Given the description of an element on the screen output the (x, y) to click on. 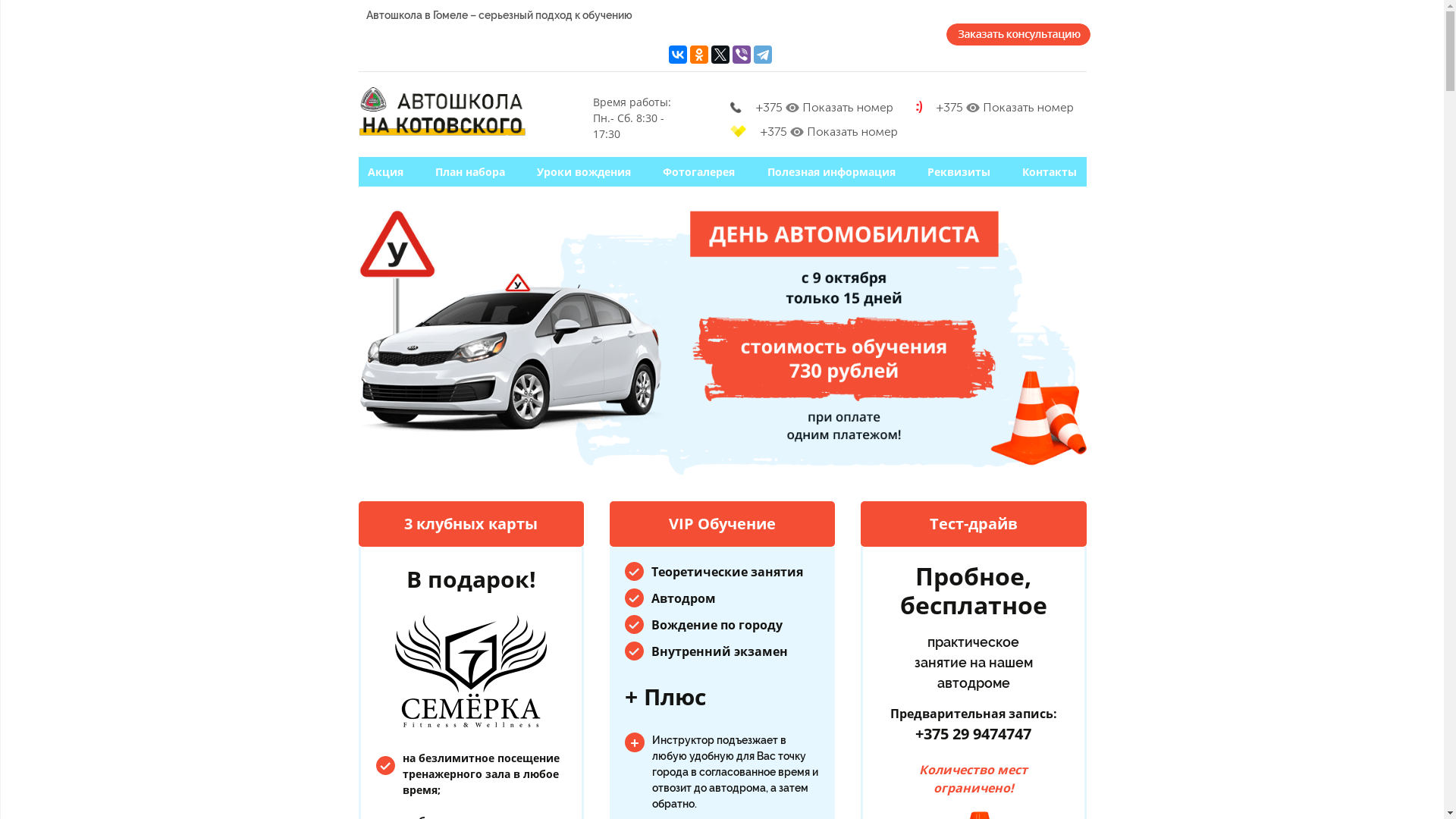
Twitter Element type: hover (720, 54)
Viber Element type: hover (741, 54)
Telegram Element type: hover (762, 54)
